Given the description of an element on the screen output the (x, y) to click on. 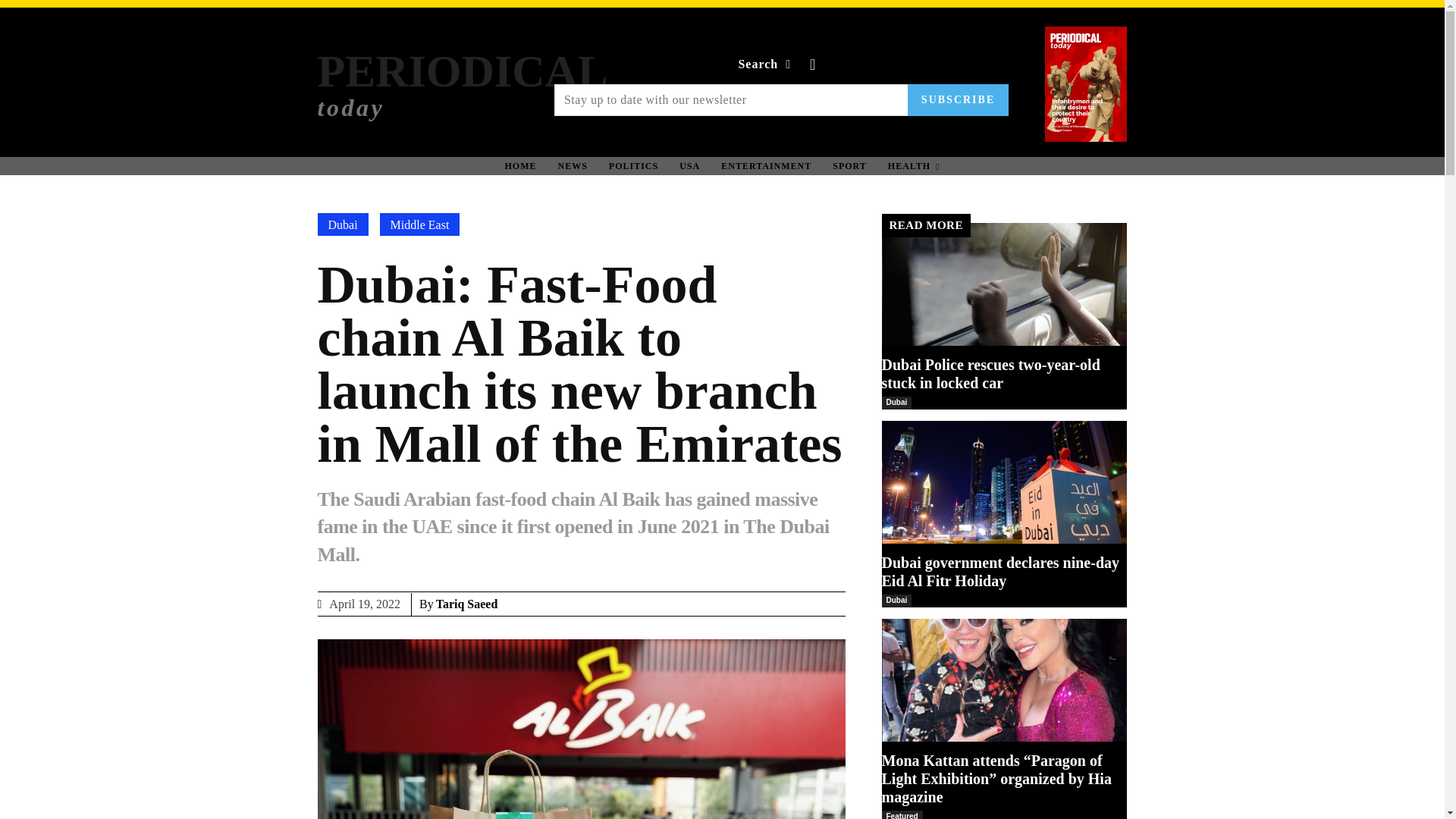
Search (462, 83)
Dubai government declares nine-day Eid Al Fitr Holiday (767, 64)
Dubai Police rescues two-year-old stuck in locked car (1003, 481)
ENTERTAINMENT (989, 373)
Dubai Police rescues two-year-old stuck in locked car (766, 166)
NEWS (1003, 283)
HOME (572, 166)
POLITICS (521, 166)
SUBSCRIBE (633, 166)
SPORT (958, 100)
HEALTH (849, 166)
USA (913, 166)
